Given the description of an element on the screen output the (x, y) to click on. 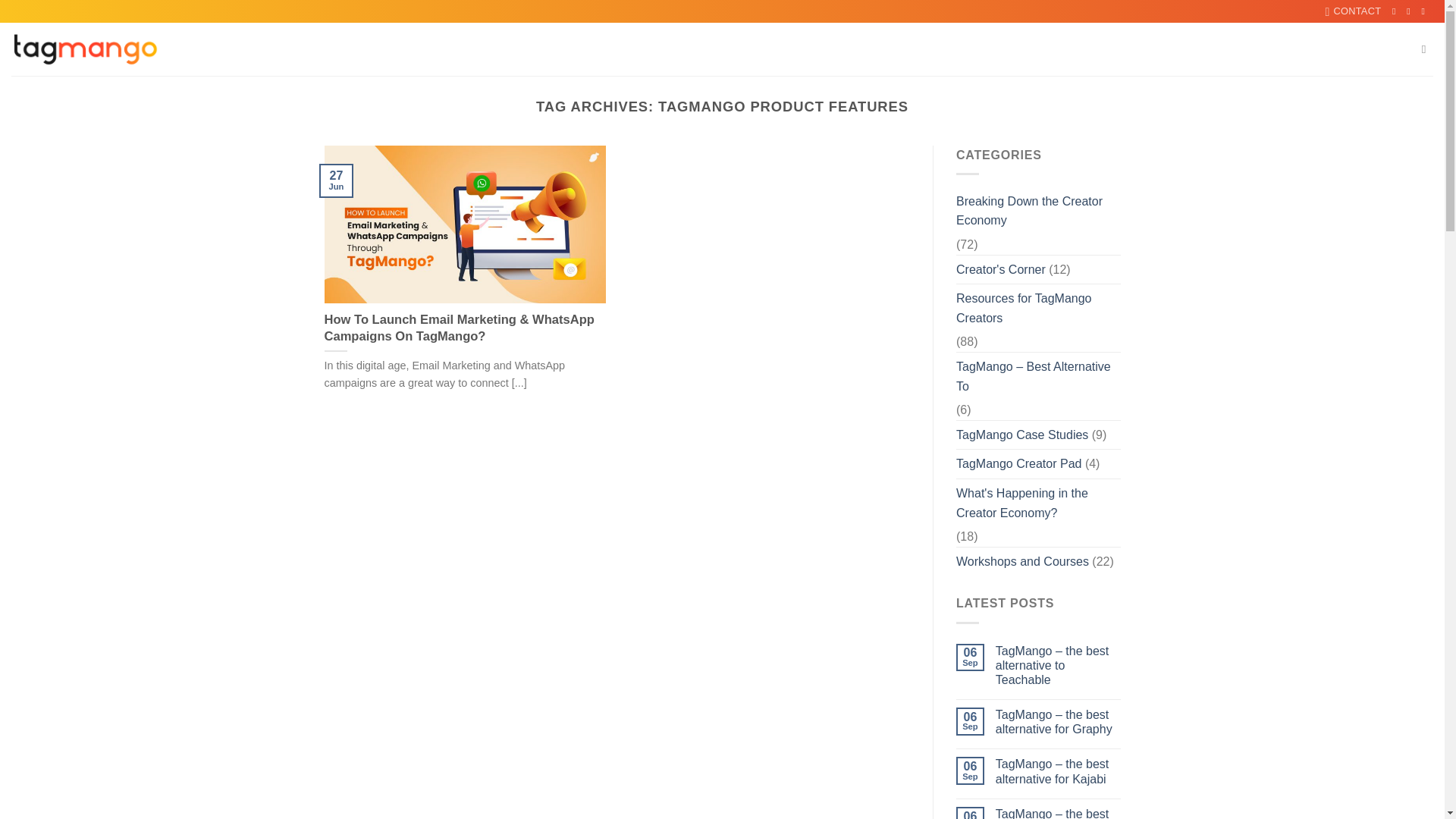
Creator's Corner (1000, 269)
Resources for TagMango Creators (1038, 308)
TagMango Creator Pad (1018, 463)
TagMango - Monetisation tool for creators (85, 49)
CONTACT (1352, 11)
What's Happening in the Creator Economy? (1038, 503)
TagMango Case Studies (1021, 434)
Workshops and Courses (1022, 561)
Breaking Down the Creator Economy (1038, 211)
